Given the description of an element on the screen output the (x, y) to click on. 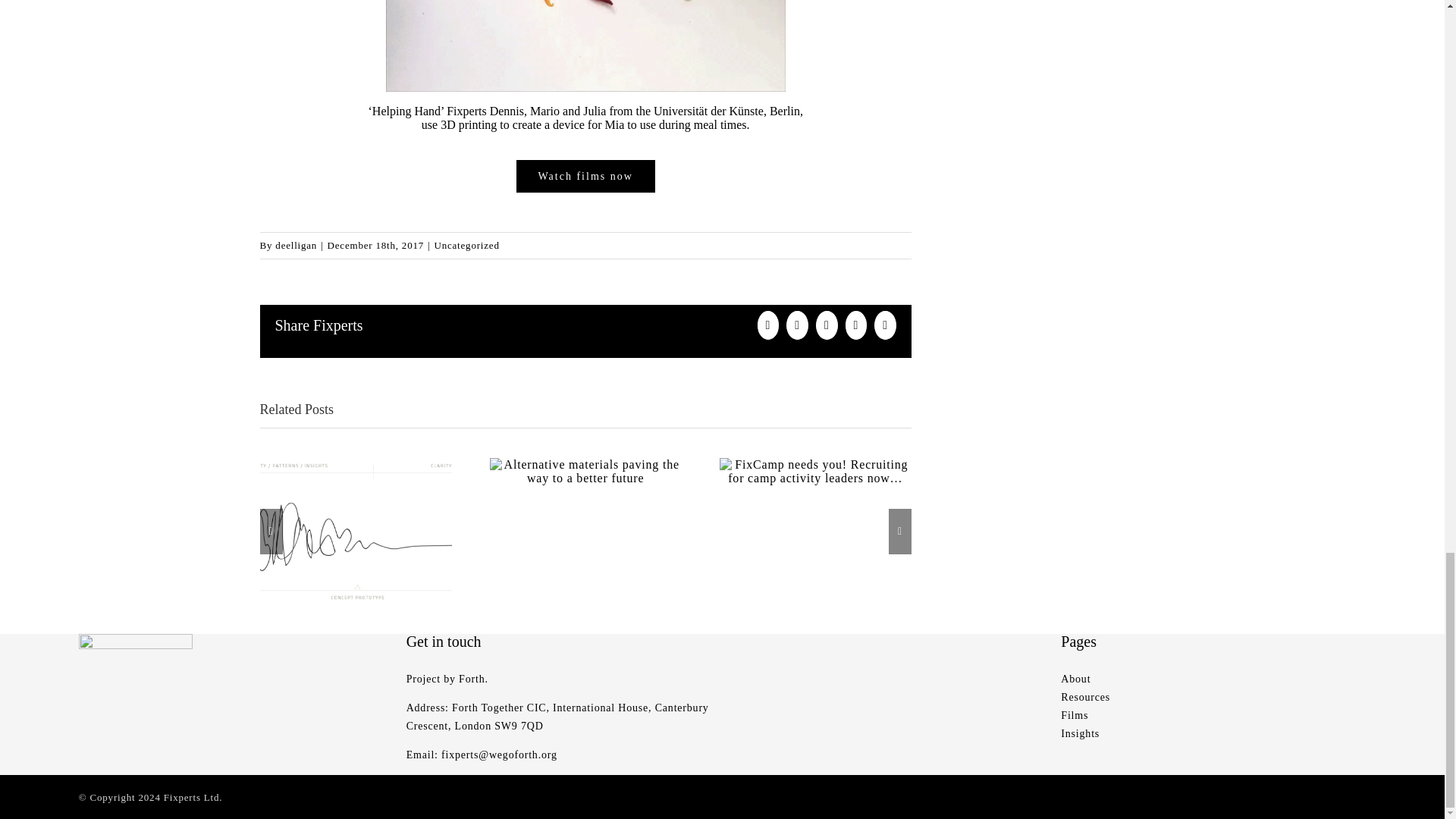
Posts by deelligan (296, 244)
Uncategorized (466, 244)
fixfoodgif (585, 45)
deelligan (296, 244)
Watch films now (585, 175)
